Given the description of an element on the screen output the (x, y) to click on. 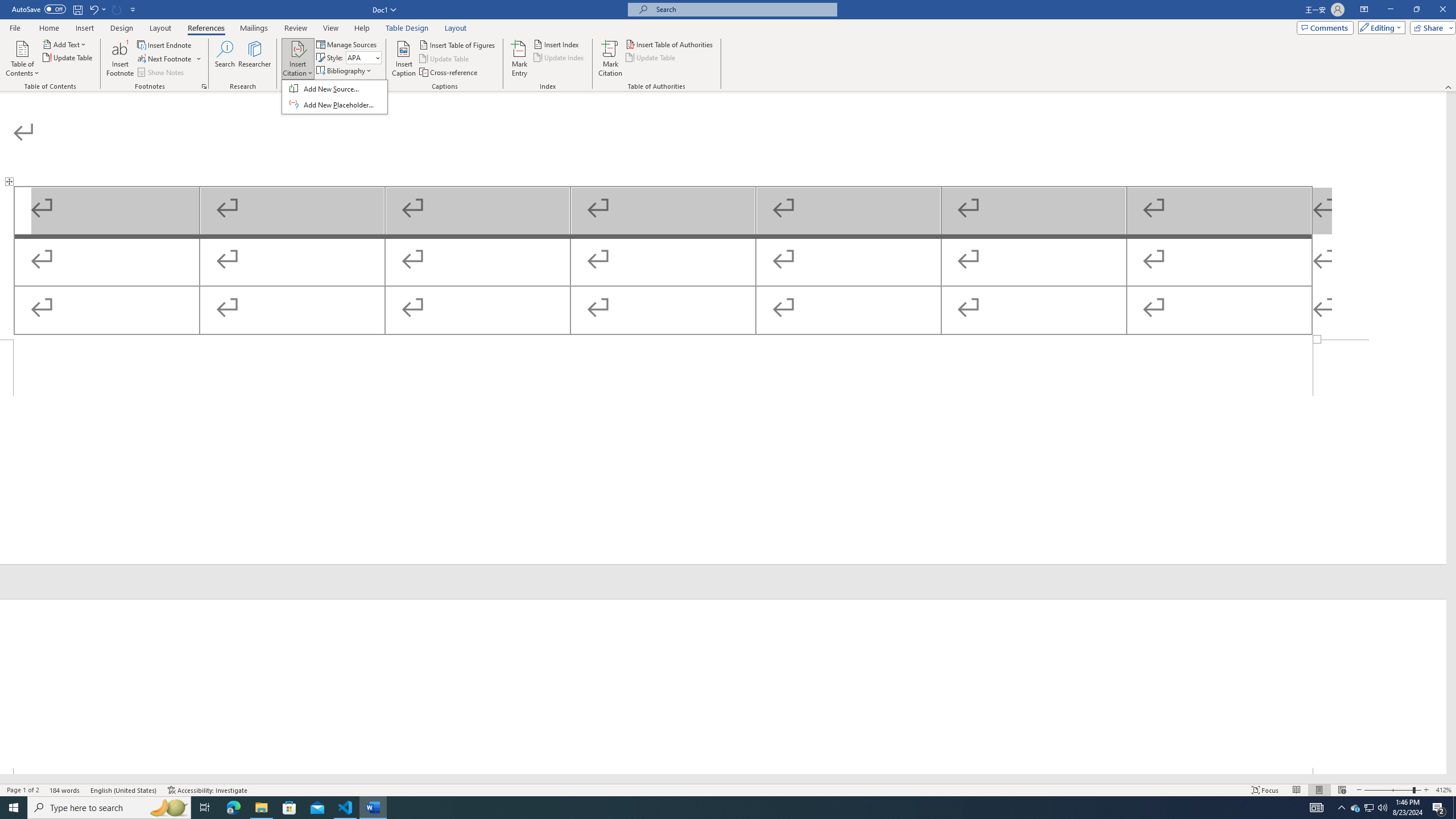
Undo Outline Move Up (96, 9)
Notification Chevron (1341, 807)
Update Index (559, 56)
Insert Footnote (119, 58)
Insert Caption... (403, 58)
Mark Citation... (610, 58)
Start (13, 807)
Manage Sources... (347, 44)
Next Footnote (169, 58)
Class: MsoCommandBar (728, 789)
